Given the description of an element on the screen output the (x, y) to click on. 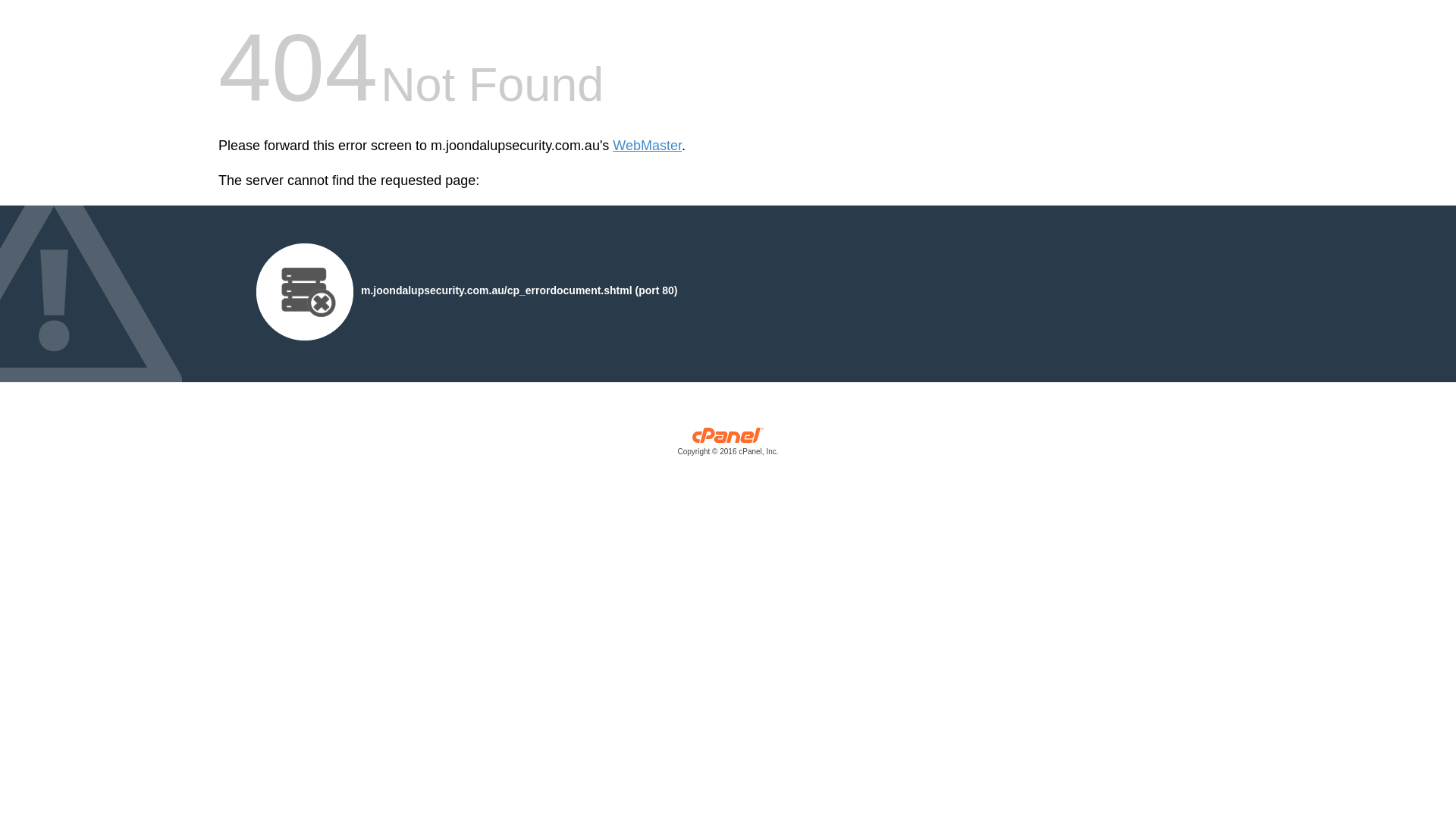
WebMaster Element type: text (646, 145)
